Given the description of an element on the screen output the (x, y) to click on. 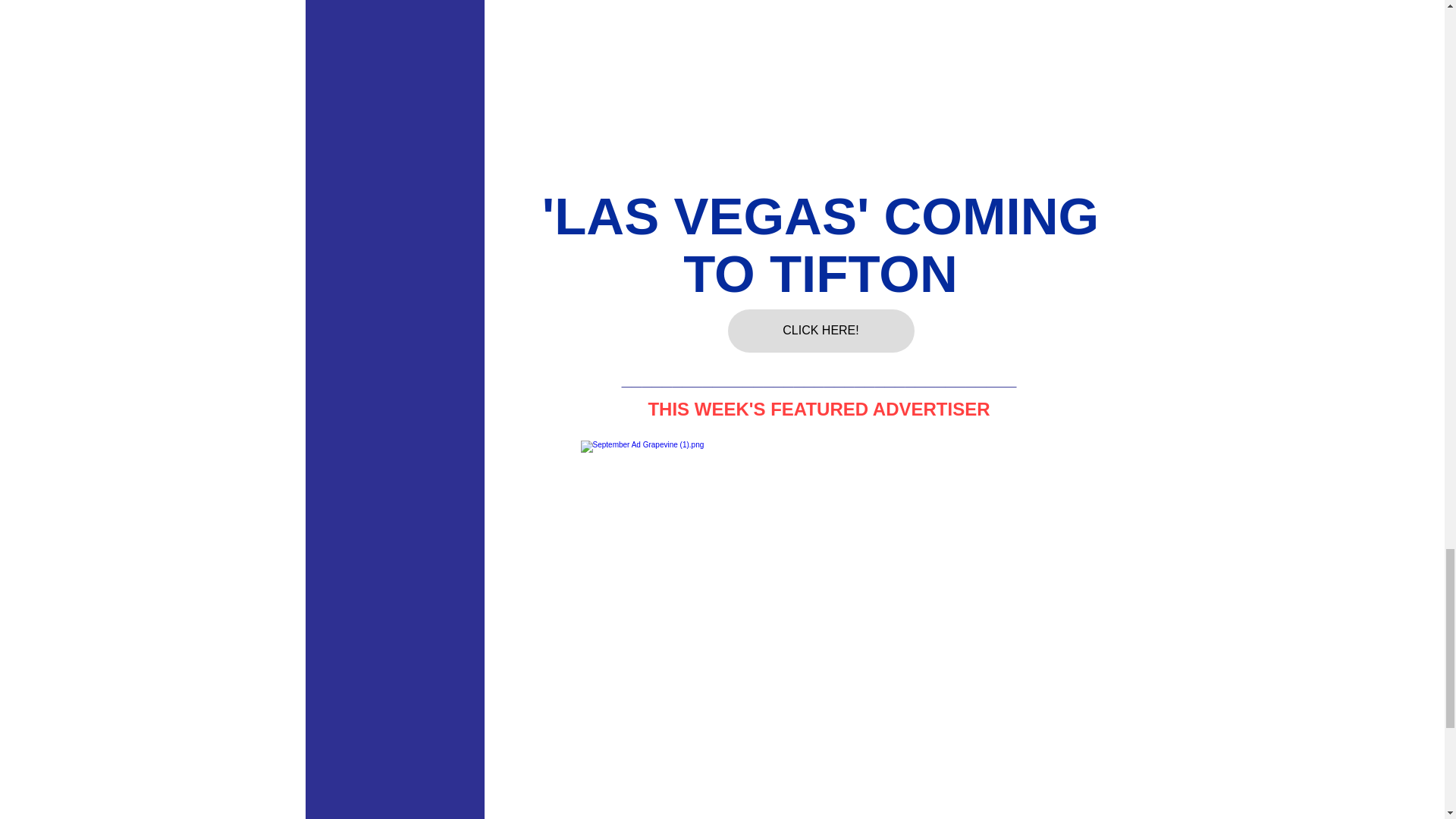
CLICK HERE! (821, 330)
Tift Theatre - Grapevine  November Ad.pn (820, 245)
